Given the description of an element on the screen output the (x, y) to click on. 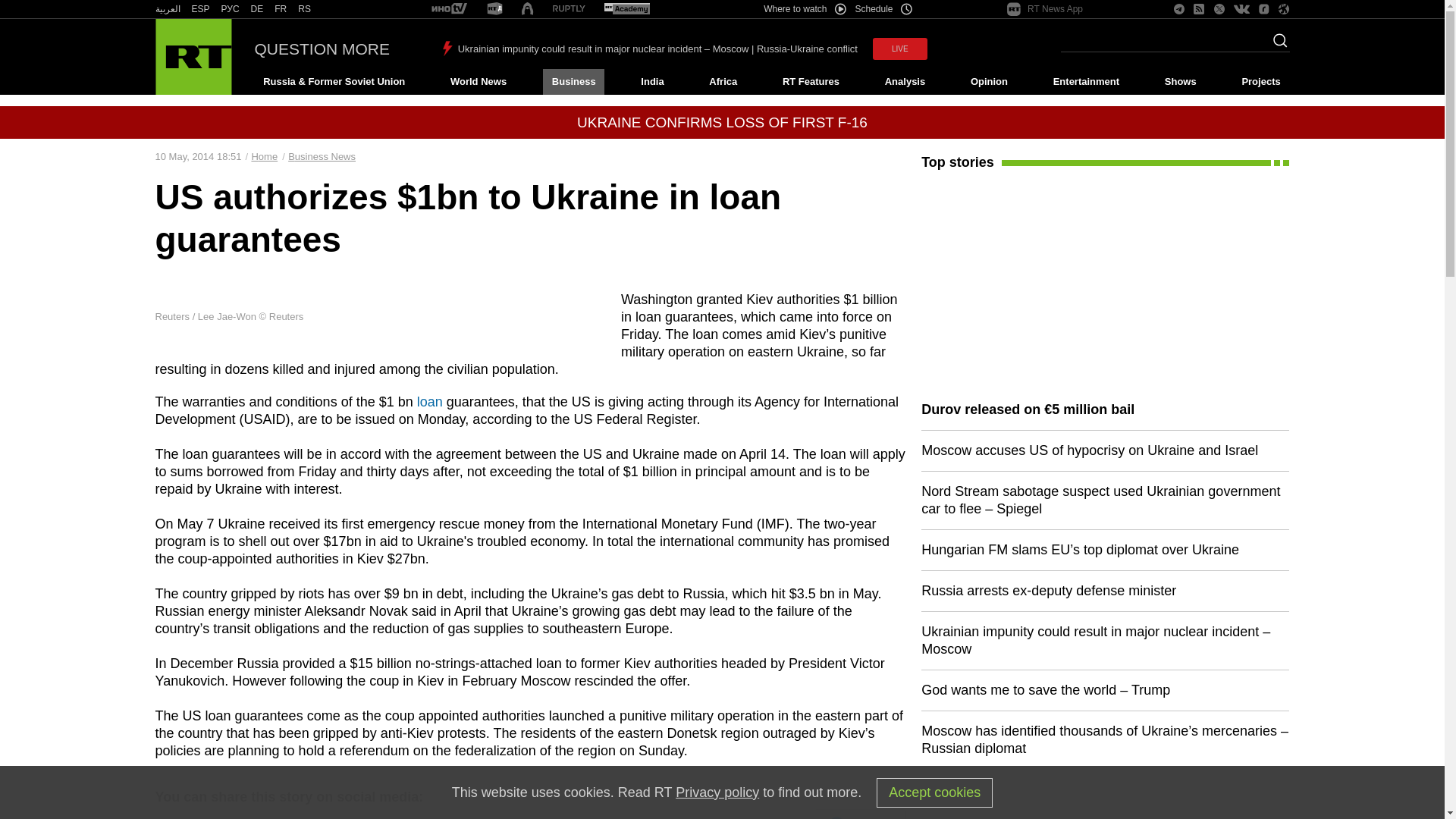
LIVE (899, 48)
QUESTION MORE (322, 48)
Where to watch (803, 9)
Business (573, 81)
Opinion (988, 81)
Shows (1180, 81)
RT  (166, 9)
Projects (1261, 81)
RT News App (1045, 9)
RT  (280, 9)
